Given the description of an element on the screen output the (x, y) to click on. 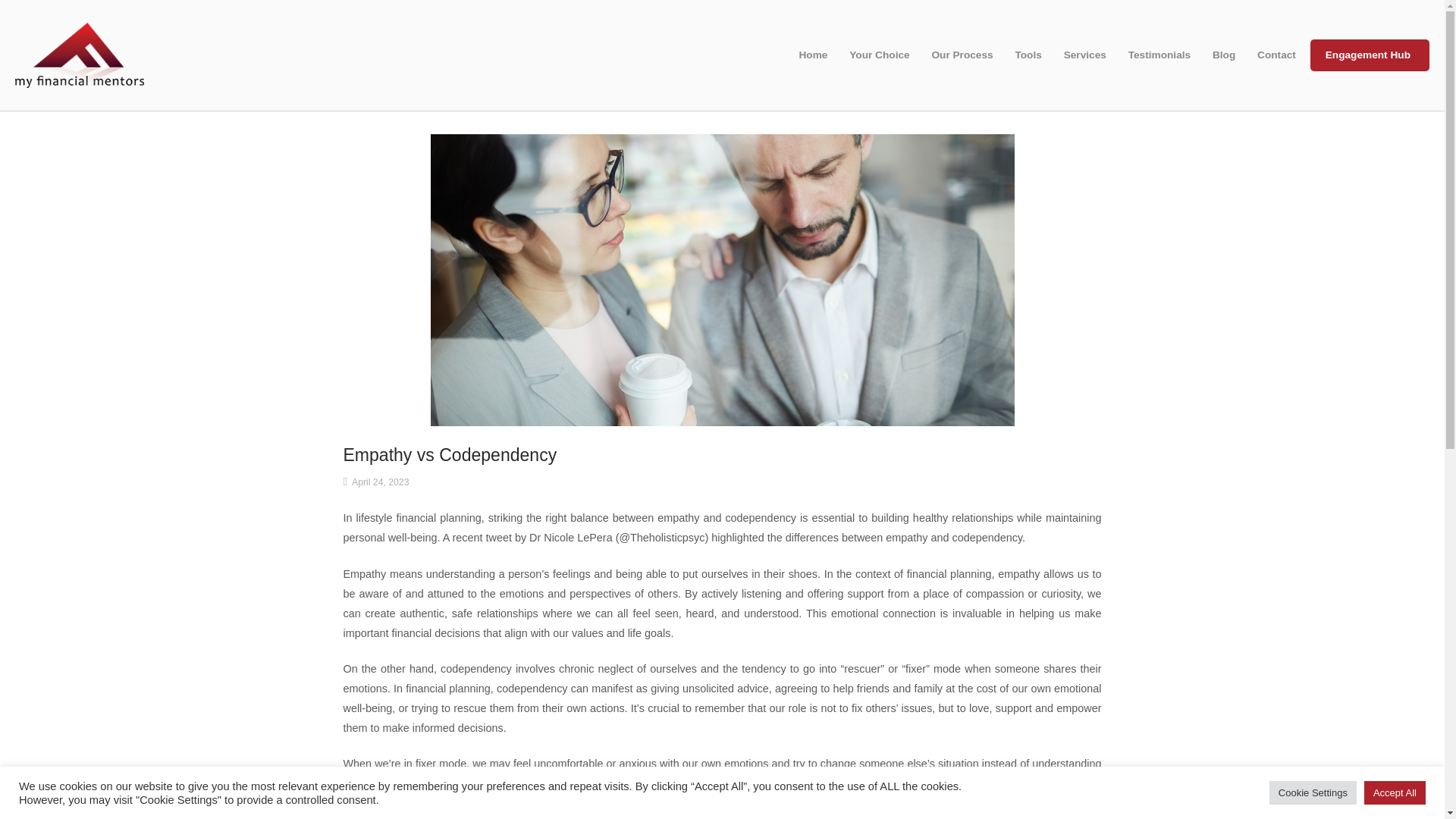
Blog (1225, 54)
Your Choice (880, 54)
Our Process (963, 54)
Services (1087, 54)
April 24, 2023 (380, 481)
Cookie Settings (1312, 792)
Contact (1278, 54)
Home (79, 54)
Testimonials (1161, 54)
Engagement Hub (1369, 54)
